Given the description of an element on the screen output the (x, y) to click on. 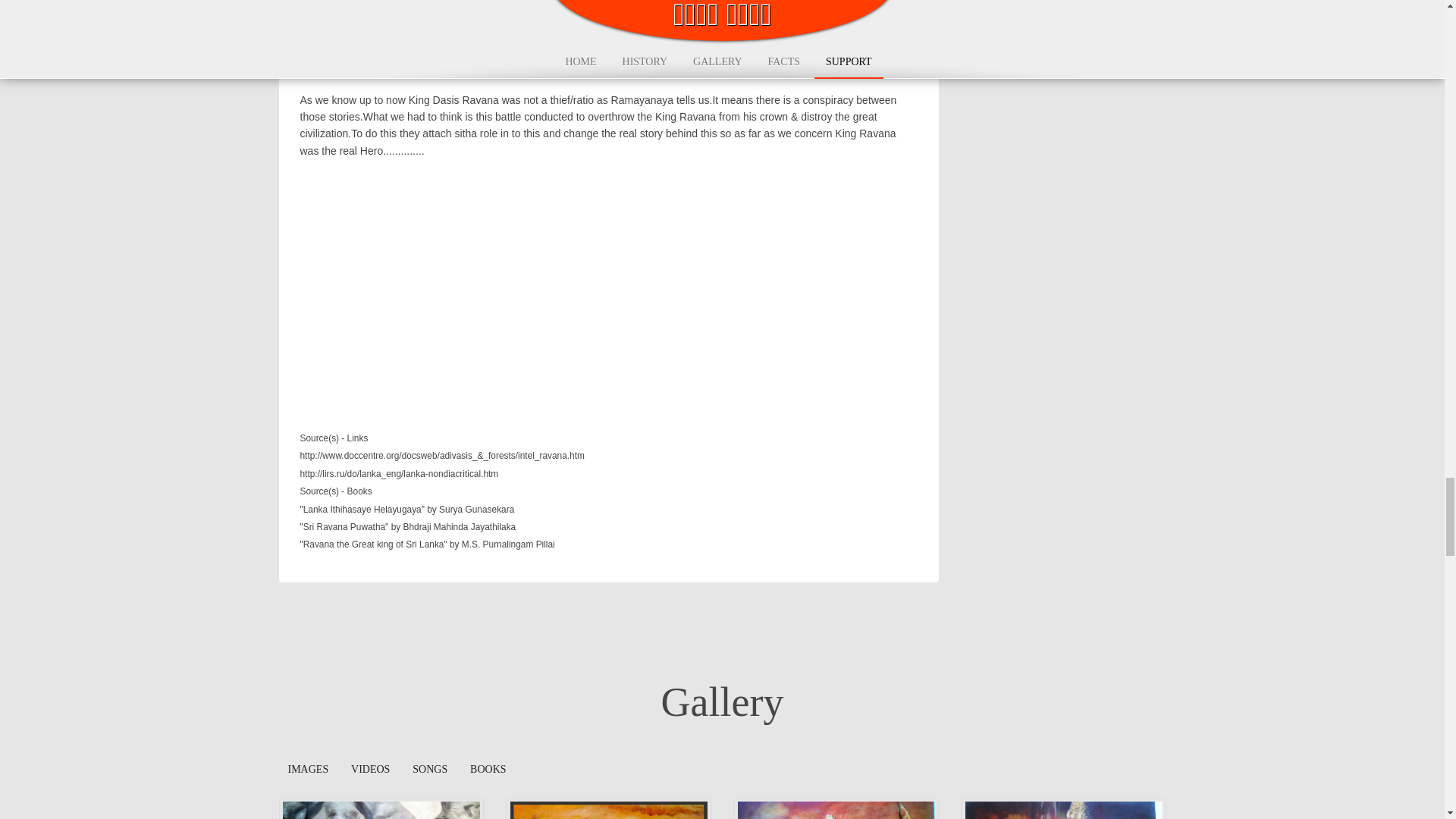
VIDEOS (370, 769)
BOOKS (488, 769)
IMAGES (308, 769)
SONGS (430, 769)
